Given the description of an element on the screen output the (x, y) to click on. 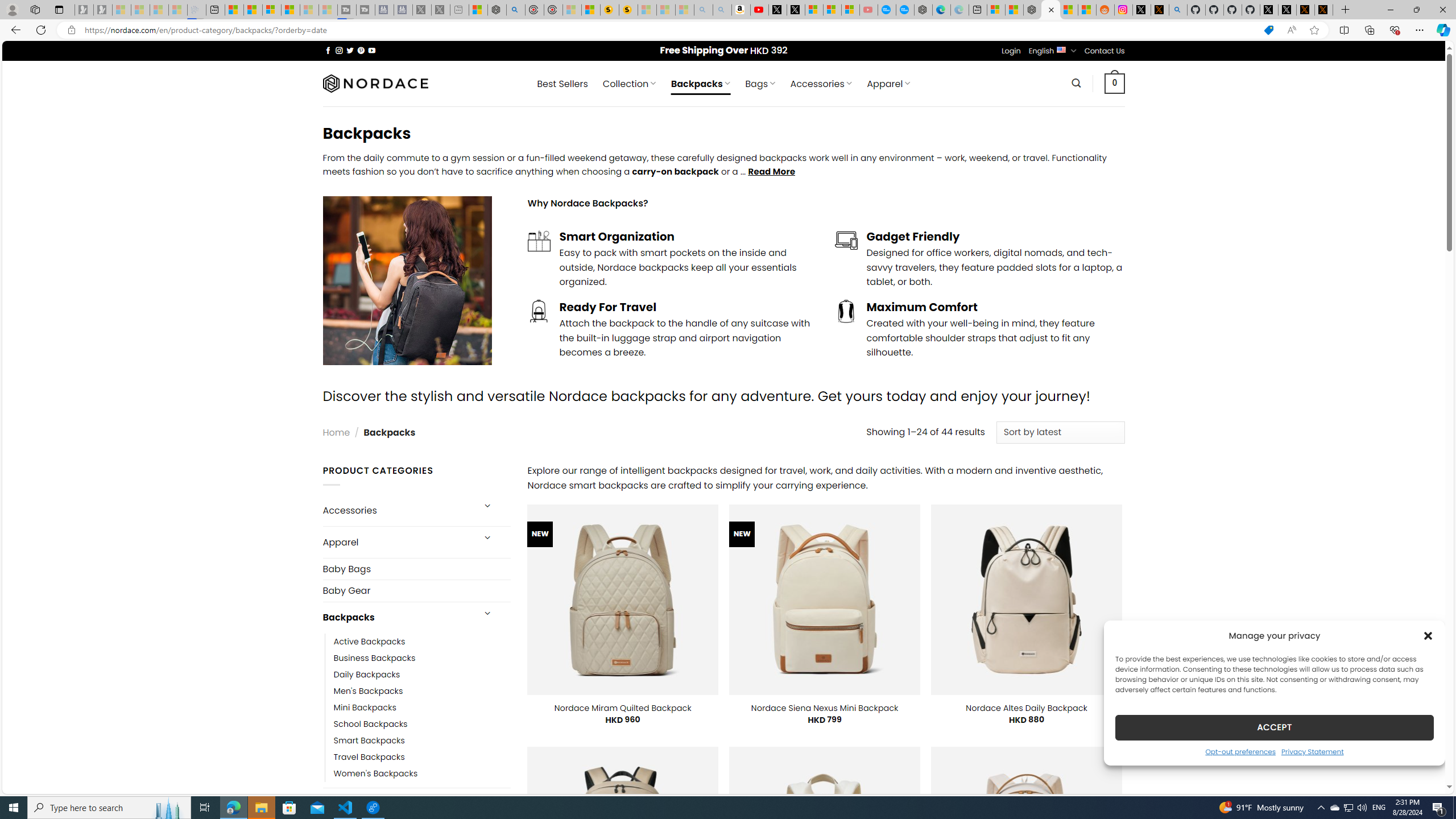
Shop order (1060, 432)
  0   (1115, 83)
ACCEPT (1274, 727)
X (795, 9)
poe - Search (515, 9)
amazon - Search - Sleeping (702, 9)
Microsoft account | Microsoft Account Privacy Settings (996, 9)
Baby Bags (416, 568)
